Given the description of an element on the screen output the (x, y) to click on. 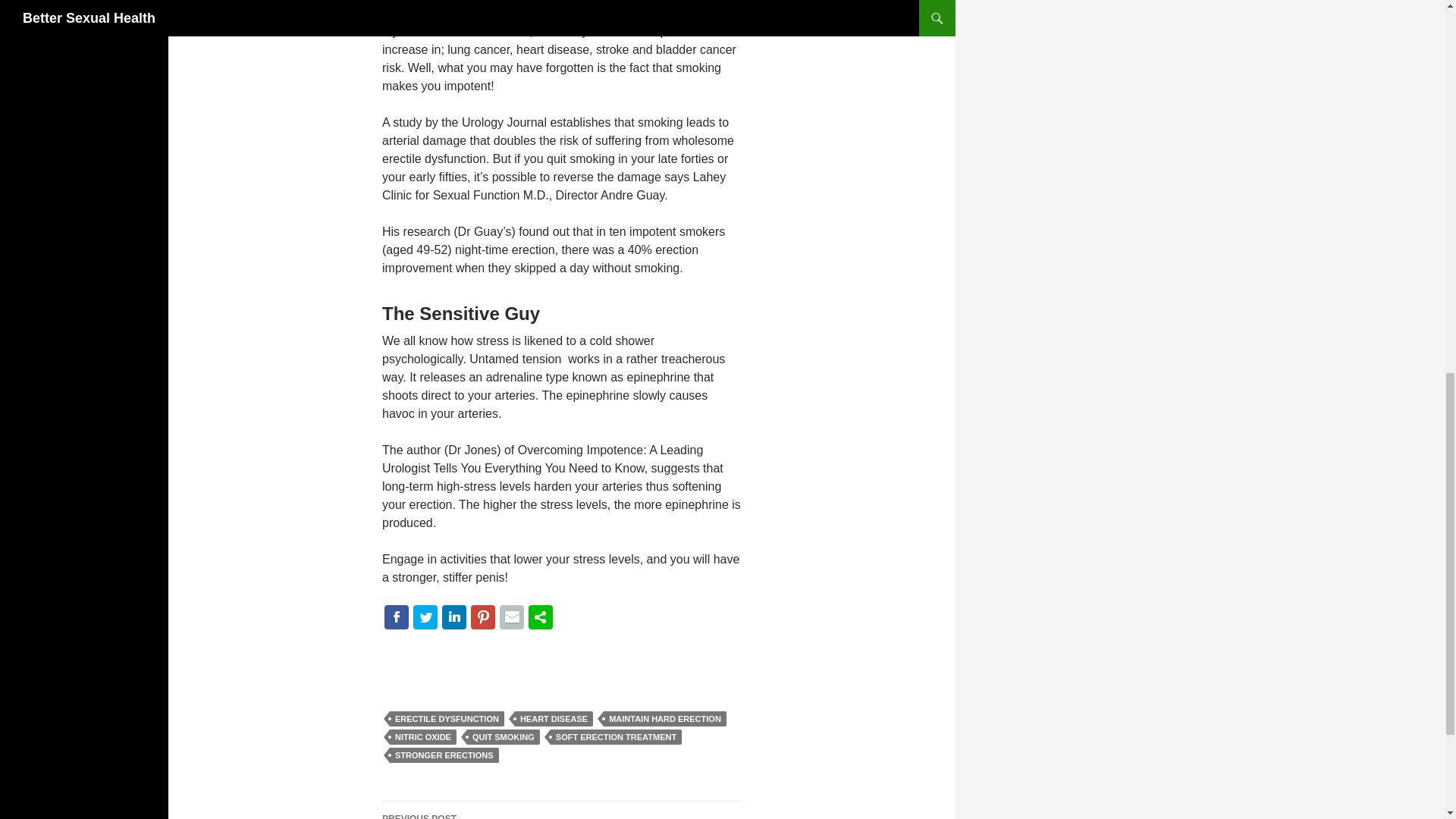
SOFT ERECTION TREATMENT (615, 736)
HEART DISEASE (553, 718)
ERECTILE DYSFUNCTION (446, 718)
NITRIC OXIDE (423, 736)
STRONGER ERECTIONS (444, 754)
MAINTAIN HARD ERECTION (665, 718)
QUIT SMOKING (503, 736)
